Given the description of an element on the screen output the (x, y) to click on. 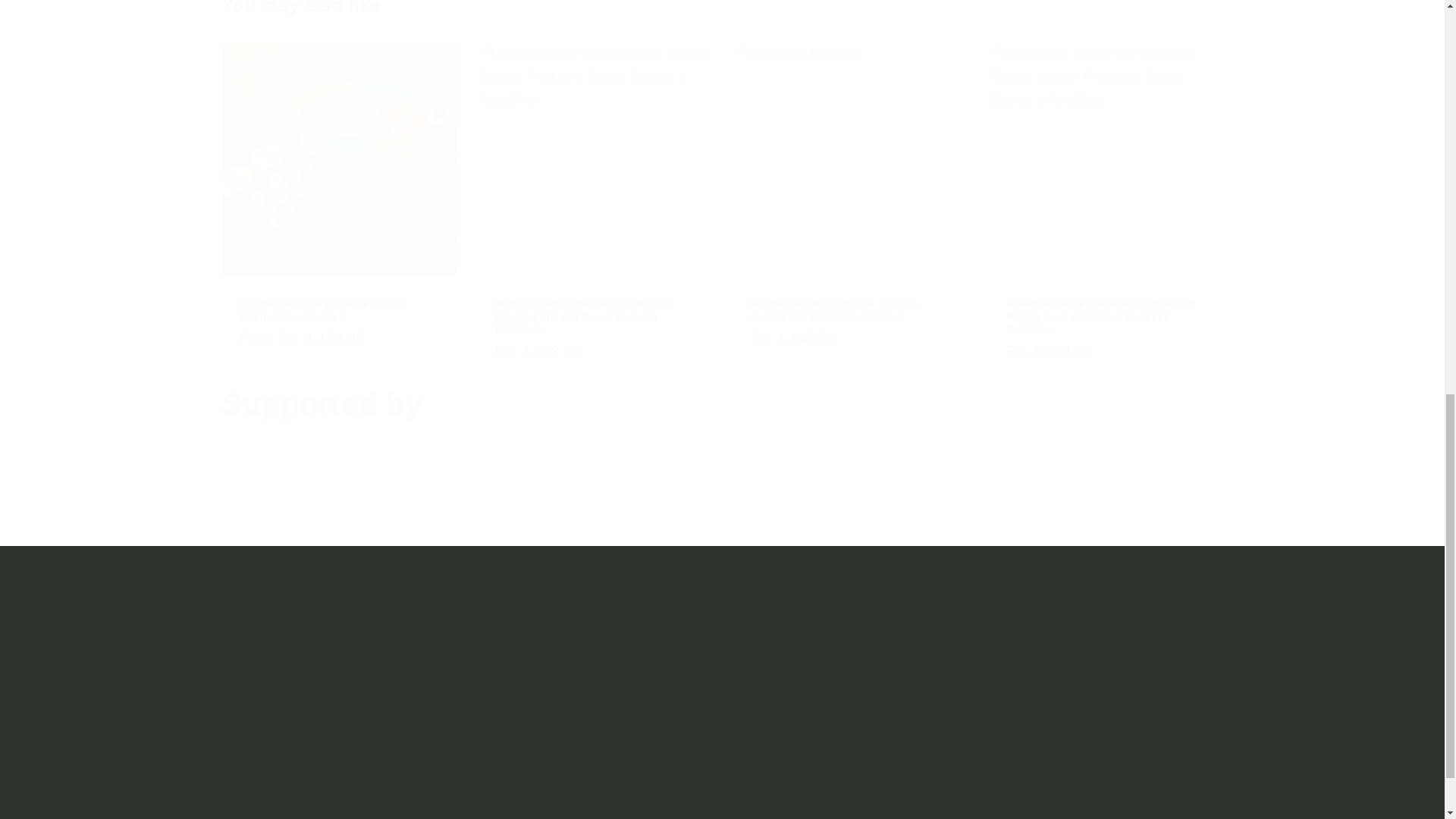
0 (636, 522)
0 (296, 522)
0 (466, 522)
0 (807, 522)
0 (977, 522)
0 (1148, 522)
